Given the description of an element on the screen output the (x, y) to click on. 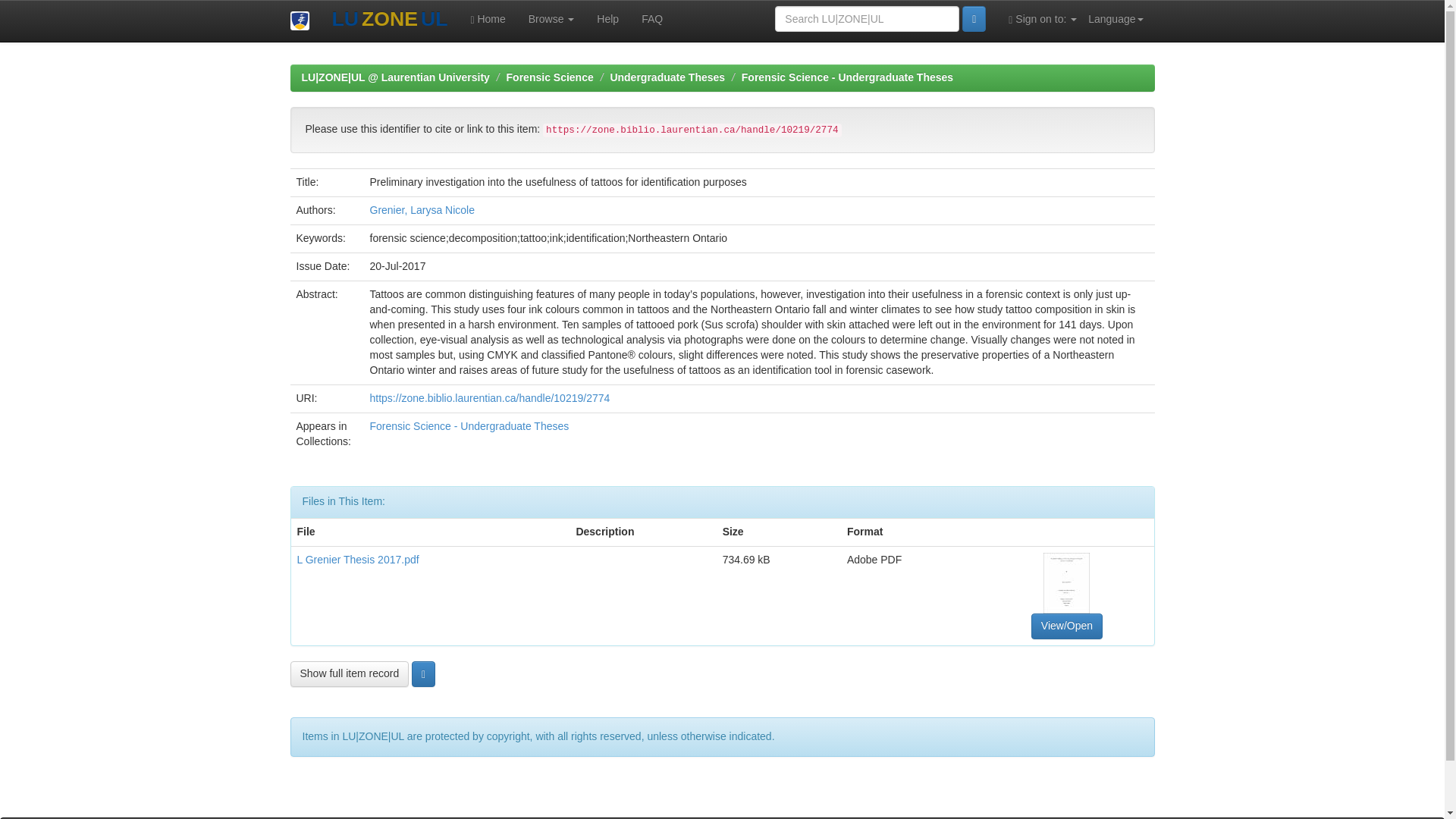
Language (1115, 18)
Sign on to: (1042, 18)
FAQ (652, 18)
Show full item record (349, 673)
LU ZONE UL (389, 20)
Browse (551, 18)
Home (487, 18)
Grenier, Larysa Nicole (422, 209)
Forensic Science (550, 77)
Forensic Science - Undergraduate Theses (847, 77)
Forensic Science - Undergraduate Theses (469, 426)
Undergraduate Theses (667, 77)
Help (607, 18)
L Grenier Thesis 2017.pdf (358, 559)
